Given the description of an element on the screen output the (x, y) to click on. 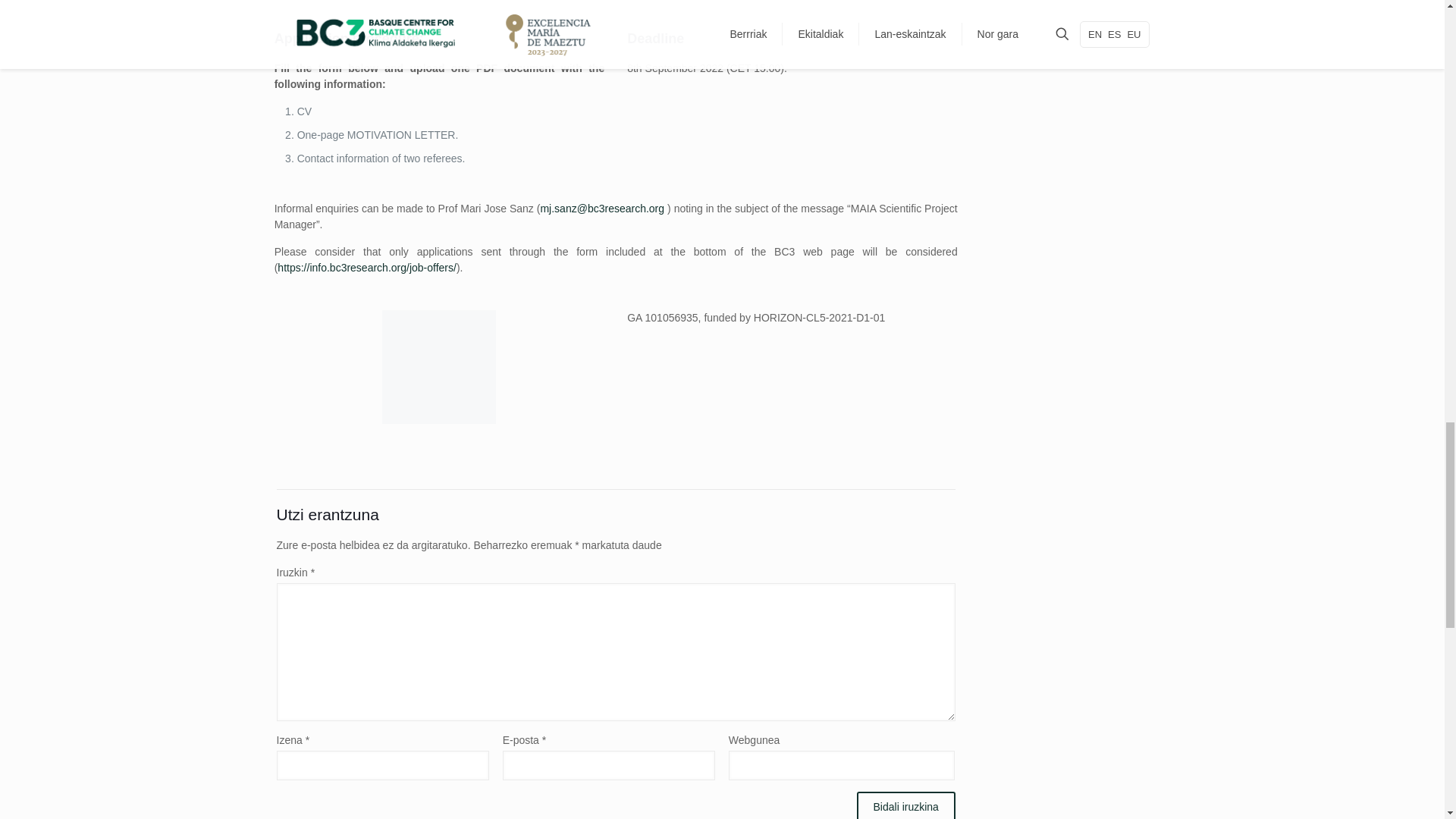
eurioe (438, 367)
Bidali iruzkina (906, 805)
